Given the description of an element on the screen output the (x, y) to click on. 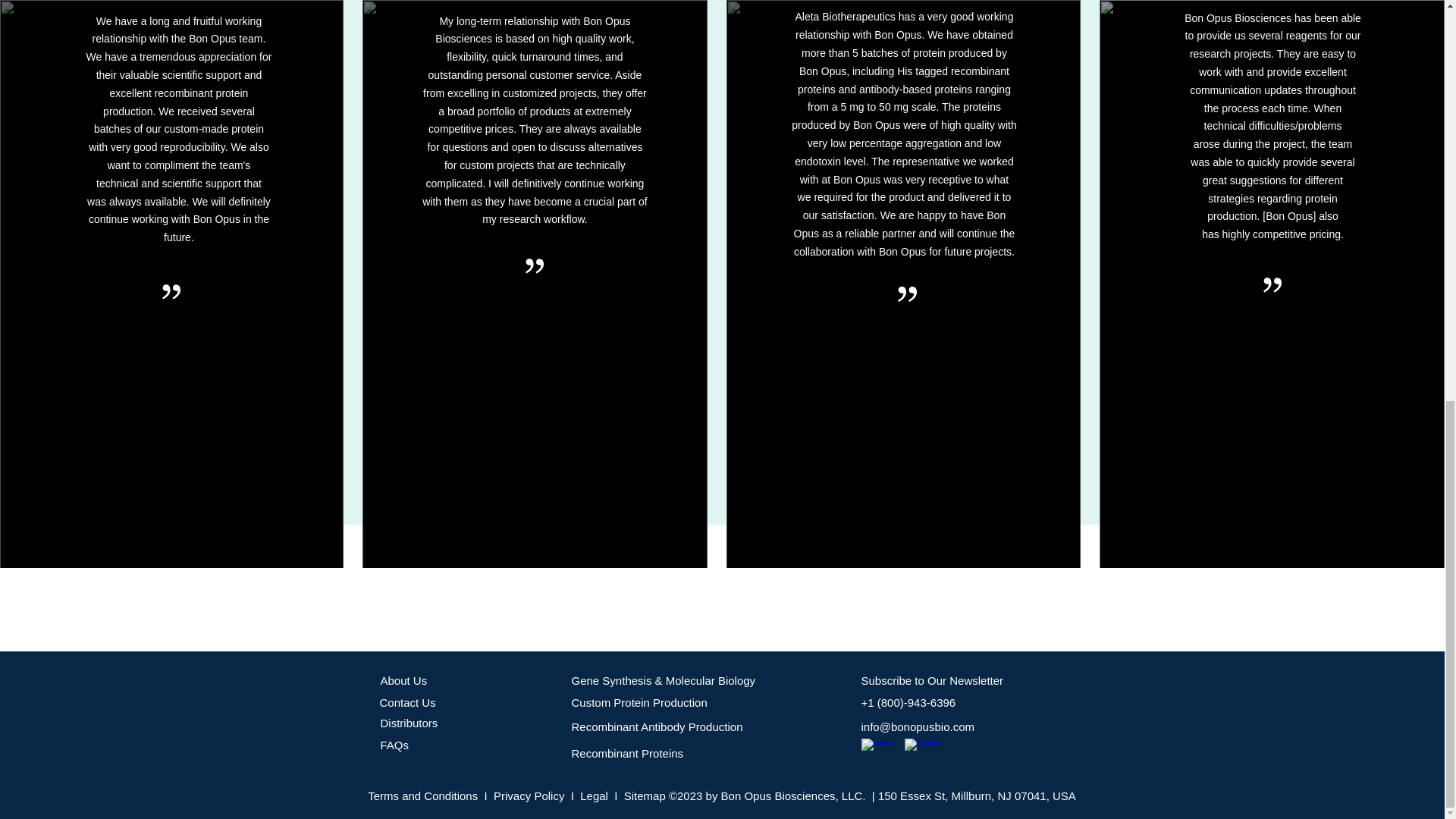
Subscribe to Our Newsletter (932, 680)
Contact Us (406, 702)
About Us (404, 680)
FAQs (394, 744)
Recombinant Proteins (628, 753)
Distributors (409, 722)
Custom Protein Production (639, 702)
Recombinant Antibody Production (657, 726)
